Given the description of an element on the screen output the (x, y) to click on. 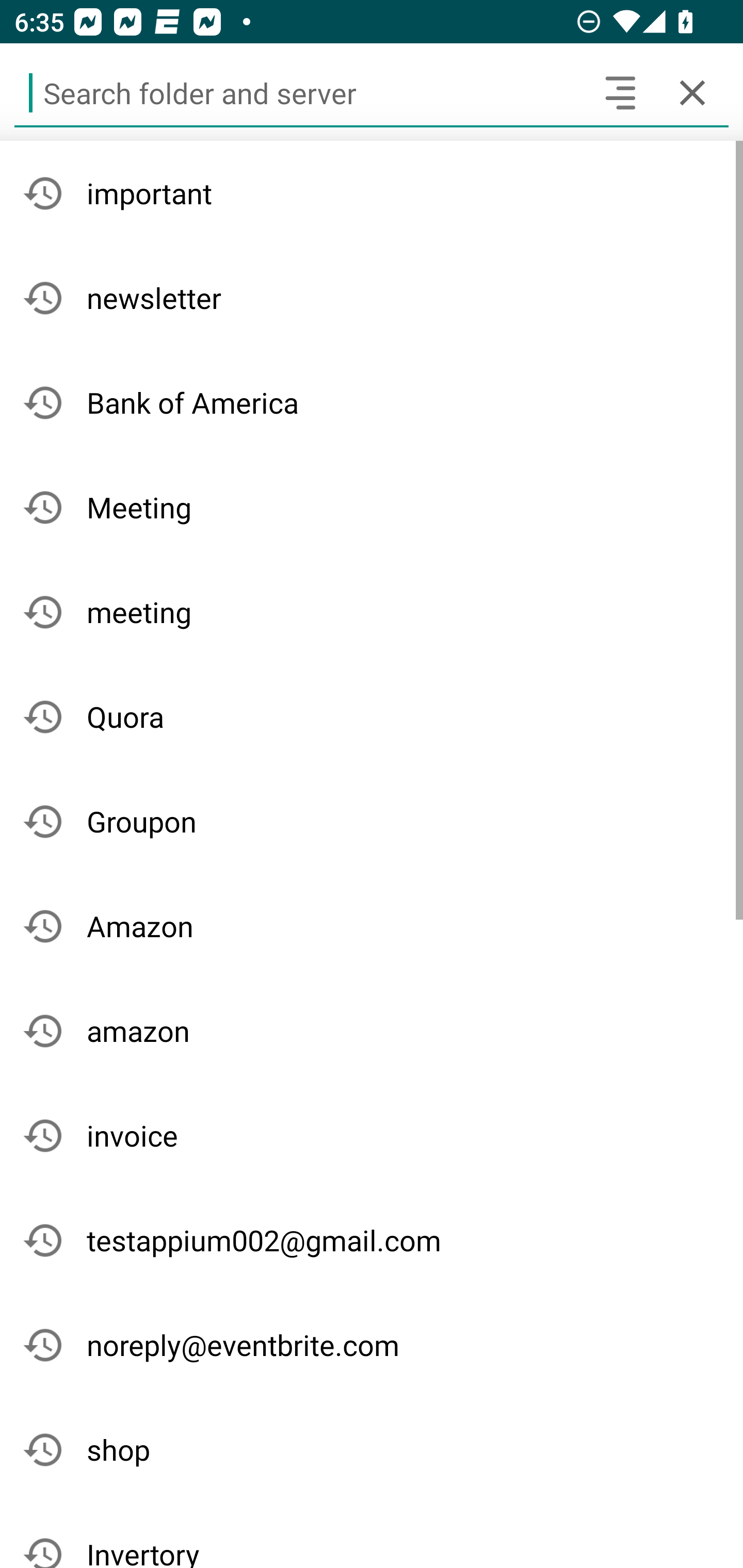
   Search folder and server (298, 92)
Search headers and text (619, 92)
Cancel (692, 92)
